Given the description of an element on the screen output the (x, y) to click on. 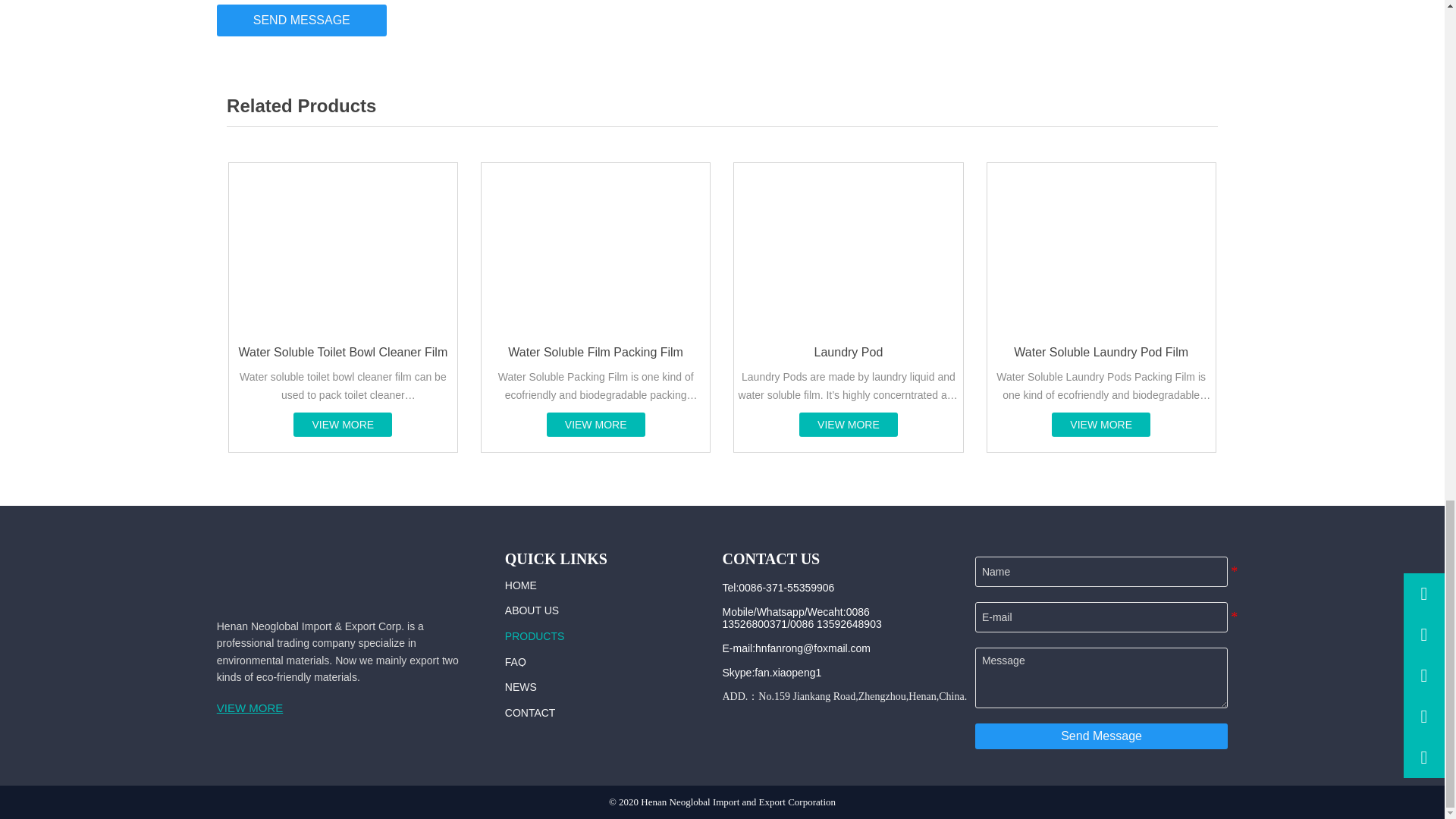
Water Soluble Laundry Pod Film (1101, 249)
VIEW MORE (292, 707)
Laundry Pod (847, 249)
Tel:0086-371-55359906 (816, 587)
Skype:fan.xiaopeng1 (816, 672)
Water Soluble Toilet Bowl Cleaner Film (343, 307)
Water Soluble Toilet Bowl Cleaner Film (342, 249)
ABOUT US (606, 610)
PRODUCTS (606, 636)
FAQ (606, 661)
Laundry Pod (847, 307)
Water Soluble Film Packing Film (595, 307)
Water Soluble Laundry Pod Film (1101, 307)
NEWS (606, 687)
